Given the description of an element on the screen output the (x, y) to click on. 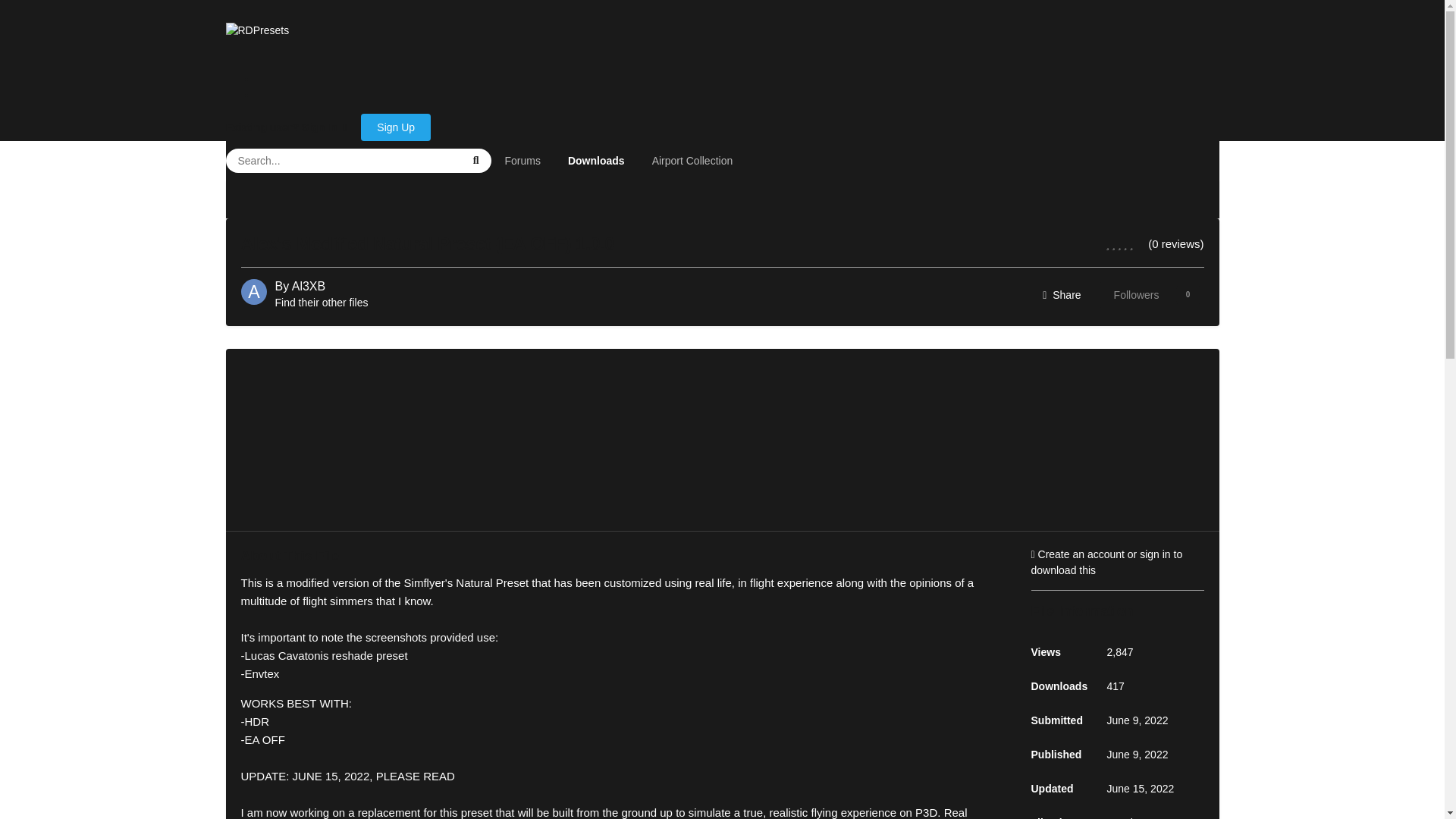
Go to Al3XB's profile (253, 291)
Downloads (596, 160)
Al3XB (308, 286)
Sign in to follow this (1151, 294)
Find their other files (321, 302)
Go to Al3XB's profile (308, 286)
 Share (1061, 294)
Forums (523, 160)
Sign Up (395, 126)
Existing user? Sign In   (286, 127)
Airport Collection (1151, 294)
